Given the description of an element on the screen output the (x, y) to click on. 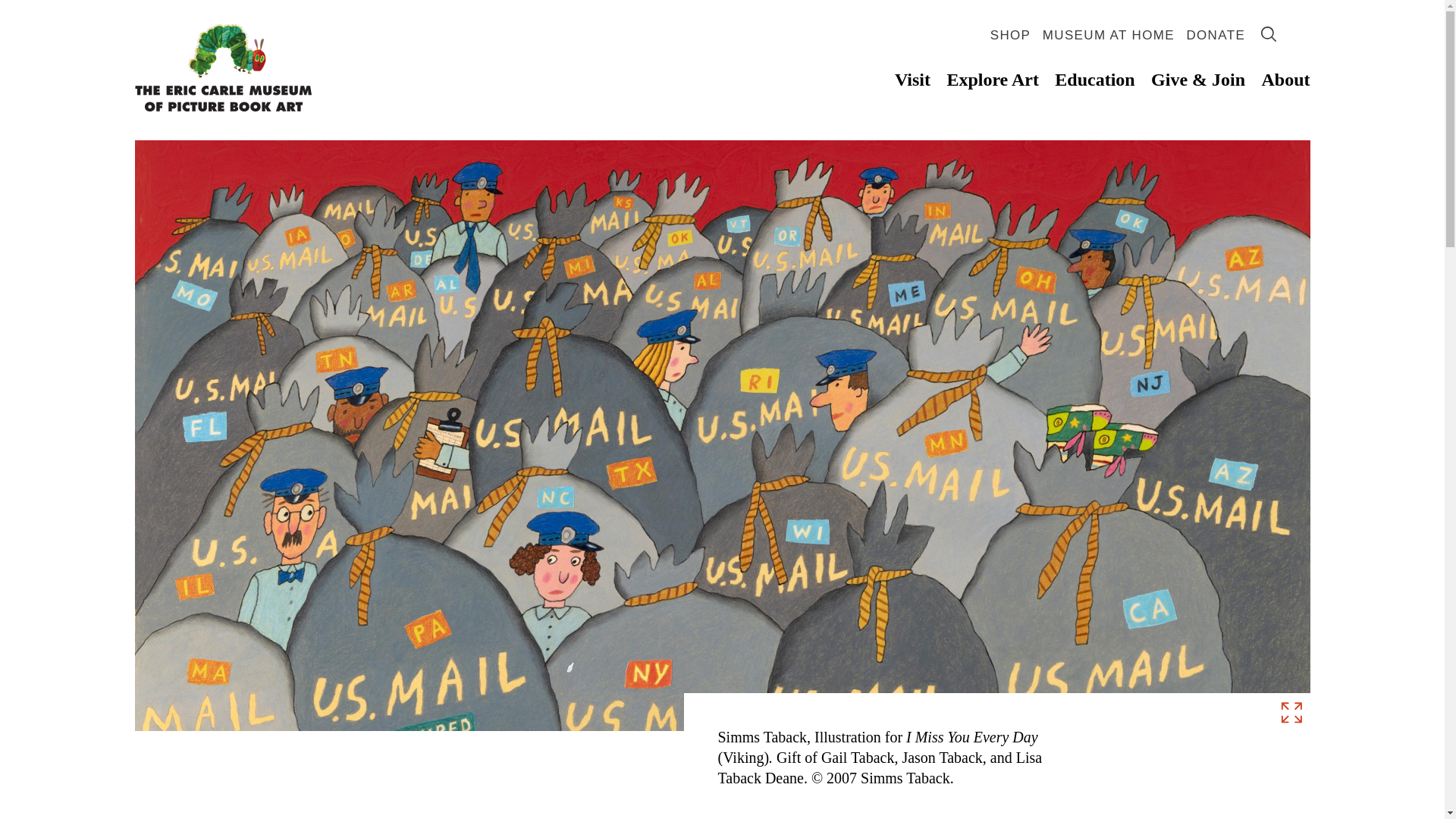
SHOP (1010, 35)
MUSEUM AT HOME (1108, 35)
